Given the description of an element on the screen output the (x, y) to click on. 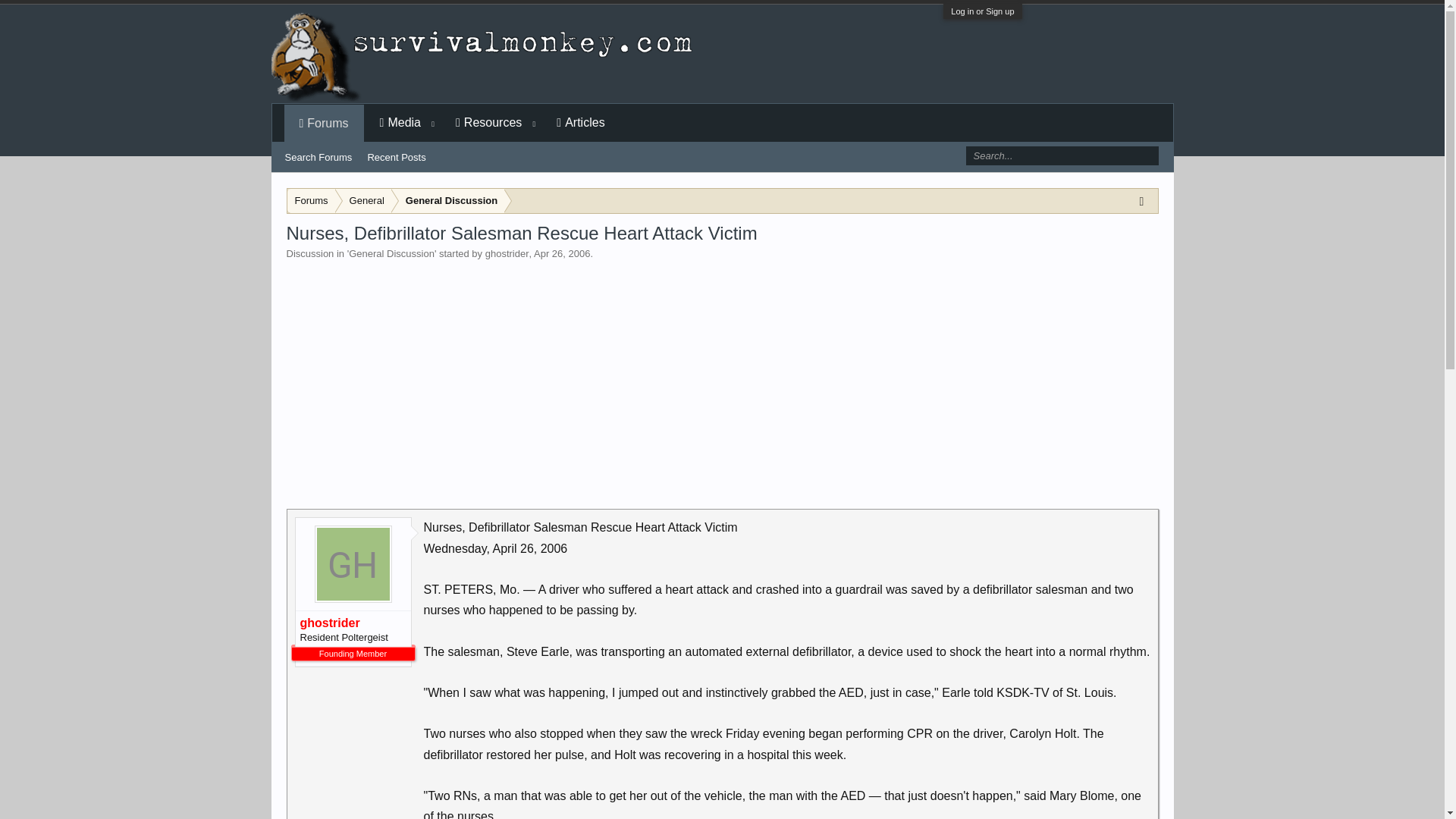
Media (400, 122)
Apr 26, 2006 at 12:27 (561, 253)
General Discussion (391, 253)
Enter your search and hit enter (1061, 155)
ghostrider (506, 253)
Open quick navigation (1144, 200)
Forums (324, 123)
Forums (310, 201)
General Discussion (448, 201)
